Given the description of an element on the screen output the (x, y) to click on. 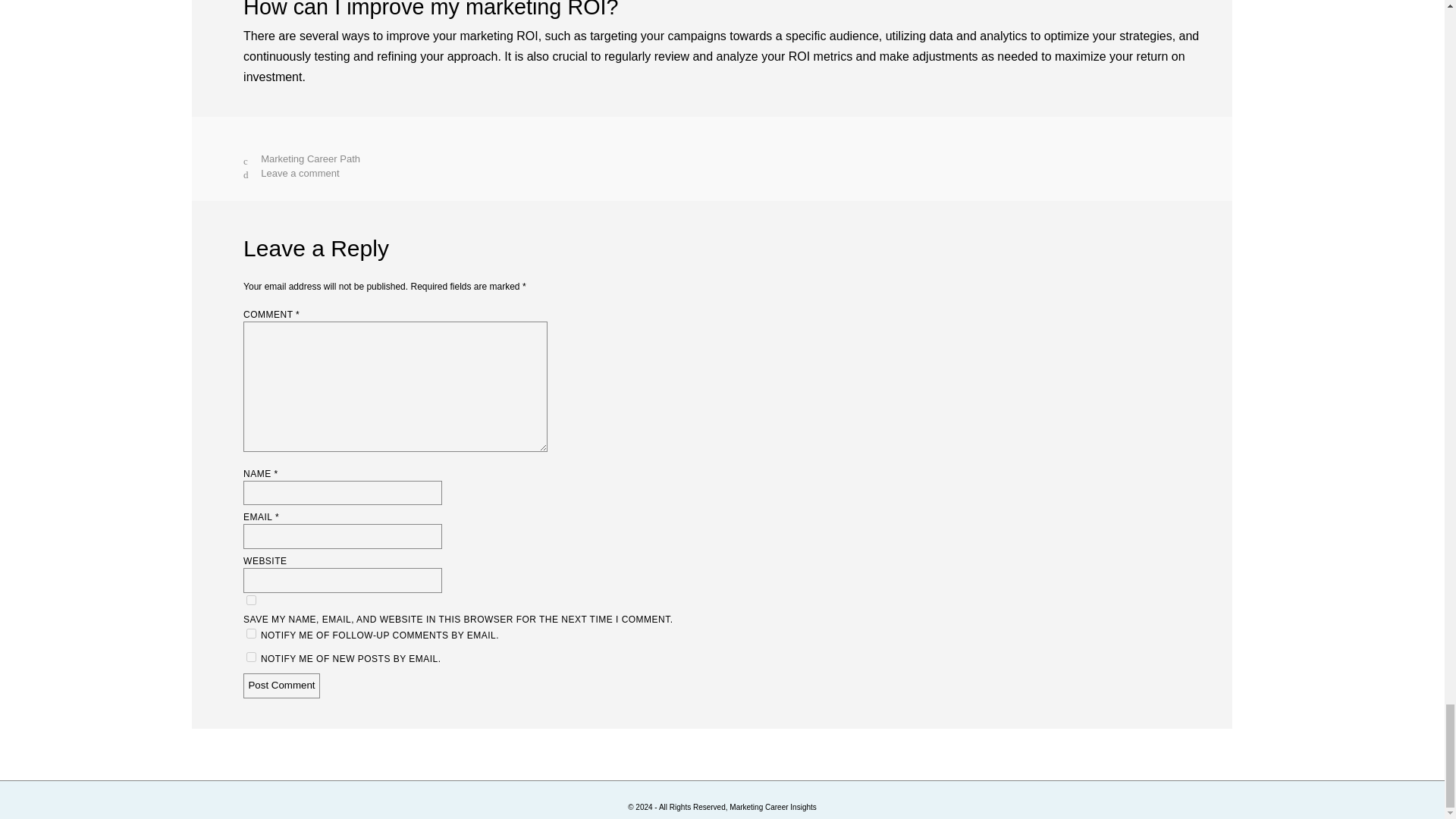
subscribe (251, 656)
subscribe (251, 633)
Post Comment (281, 685)
Marketing Career Path (309, 158)
yes (251, 600)
Post Comment (281, 685)
Leave a comment (299, 173)
